Given the description of an element on the screen output the (x, y) to click on. 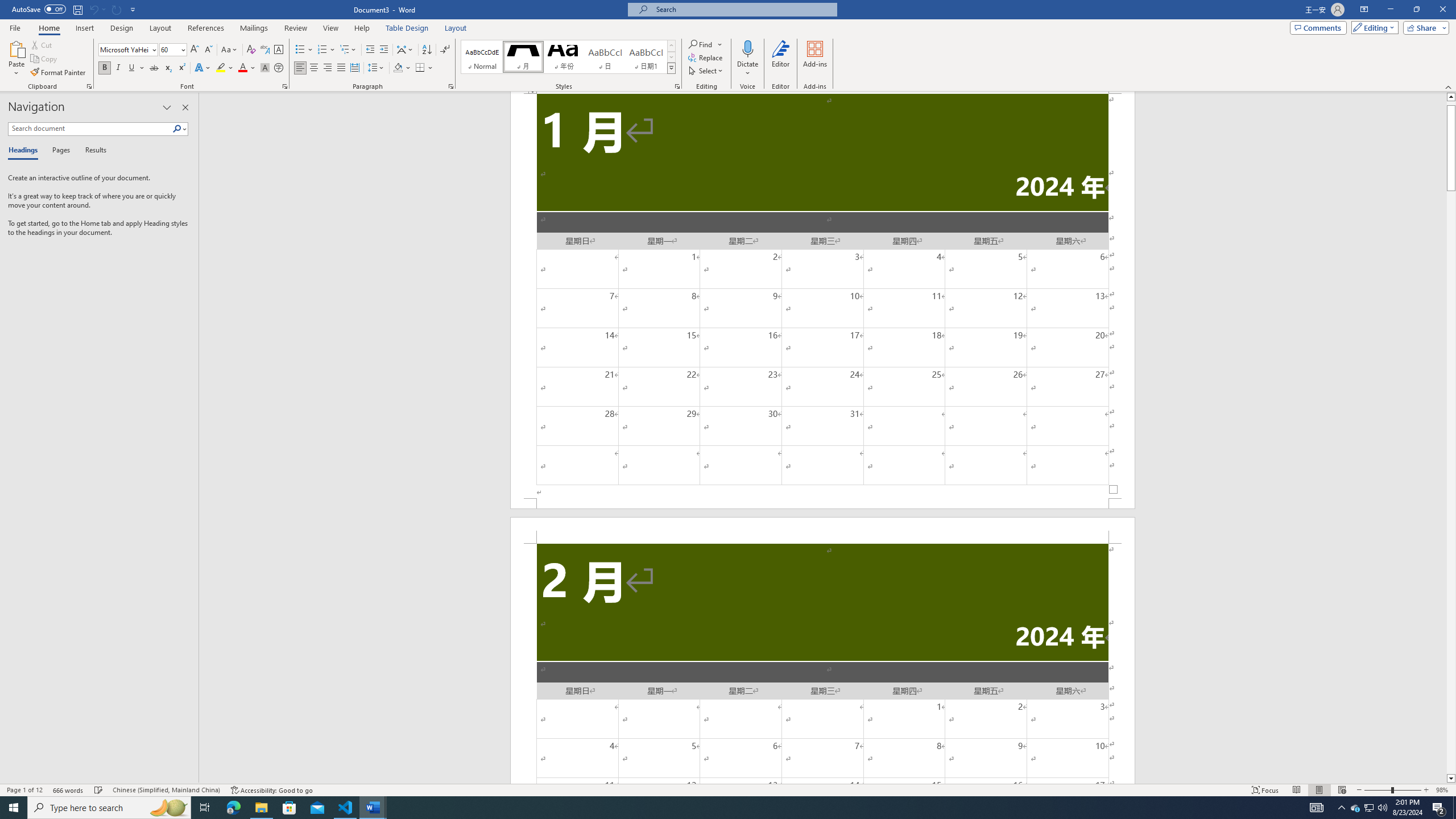
Page up (1450, 102)
